Given the description of an element on the screen output the (x, y) to click on. 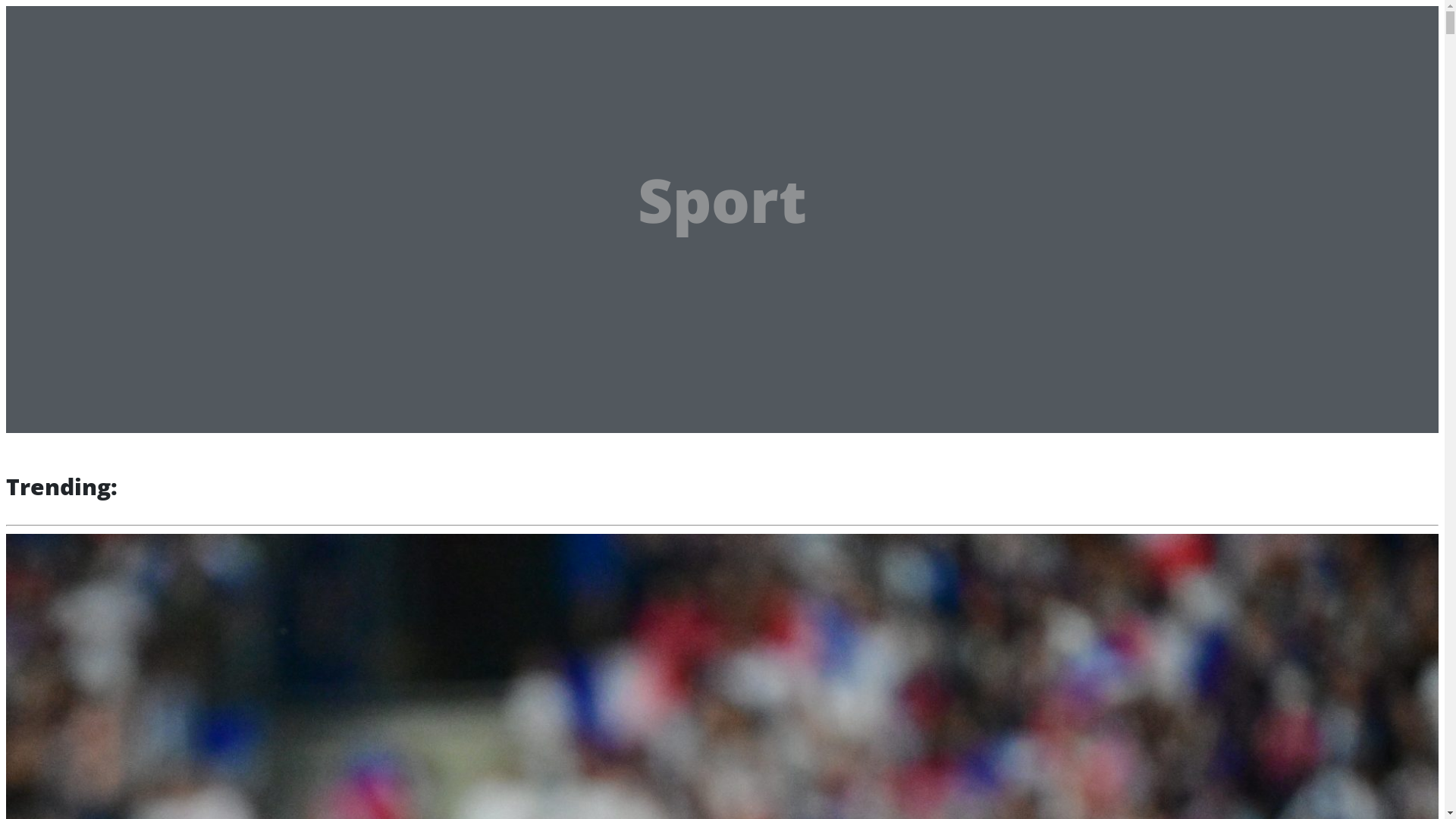
MENU Element type: text (120, 22)
HOME Element type: text (67, 67)
logo.cd Element type: text (49, 19)
SDFDSF32FSD Element type: text (85, 87)
